Given the description of an element on the screen output the (x, y) to click on. 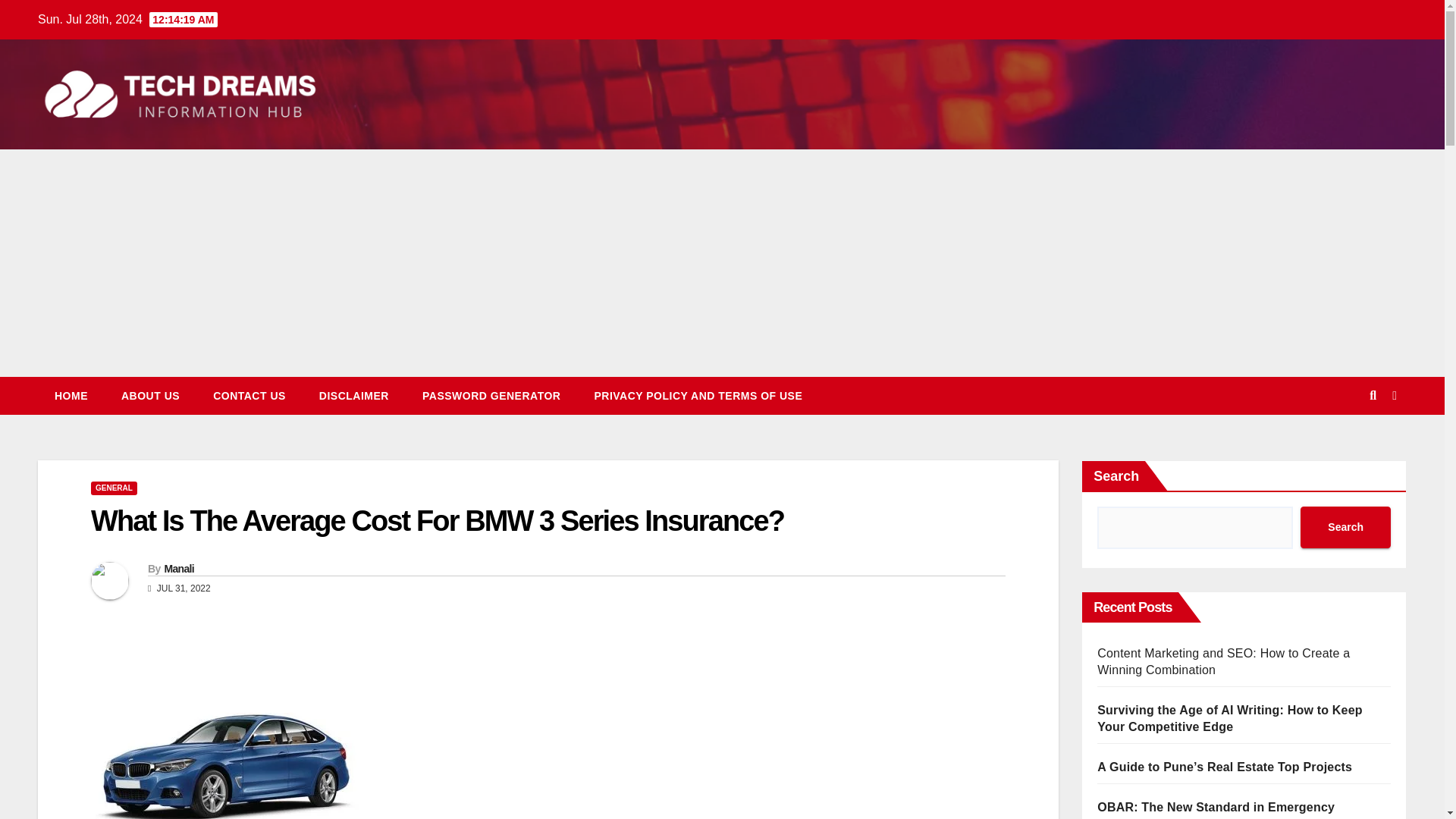
DISCLAIMER (354, 395)
ABOUT US (150, 395)
What Is The Average Cost For BMW 3 Series Insurance? (437, 521)
HOME (70, 395)
GENERAL (113, 488)
CONTACT US (249, 395)
Manali (178, 568)
Home (70, 395)
PASSWORD GENERATOR (491, 395)
PRIVACY POLICY AND TERMS OF USE (697, 395)
